Given the description of an element on the screen output the (x, y) to click on. 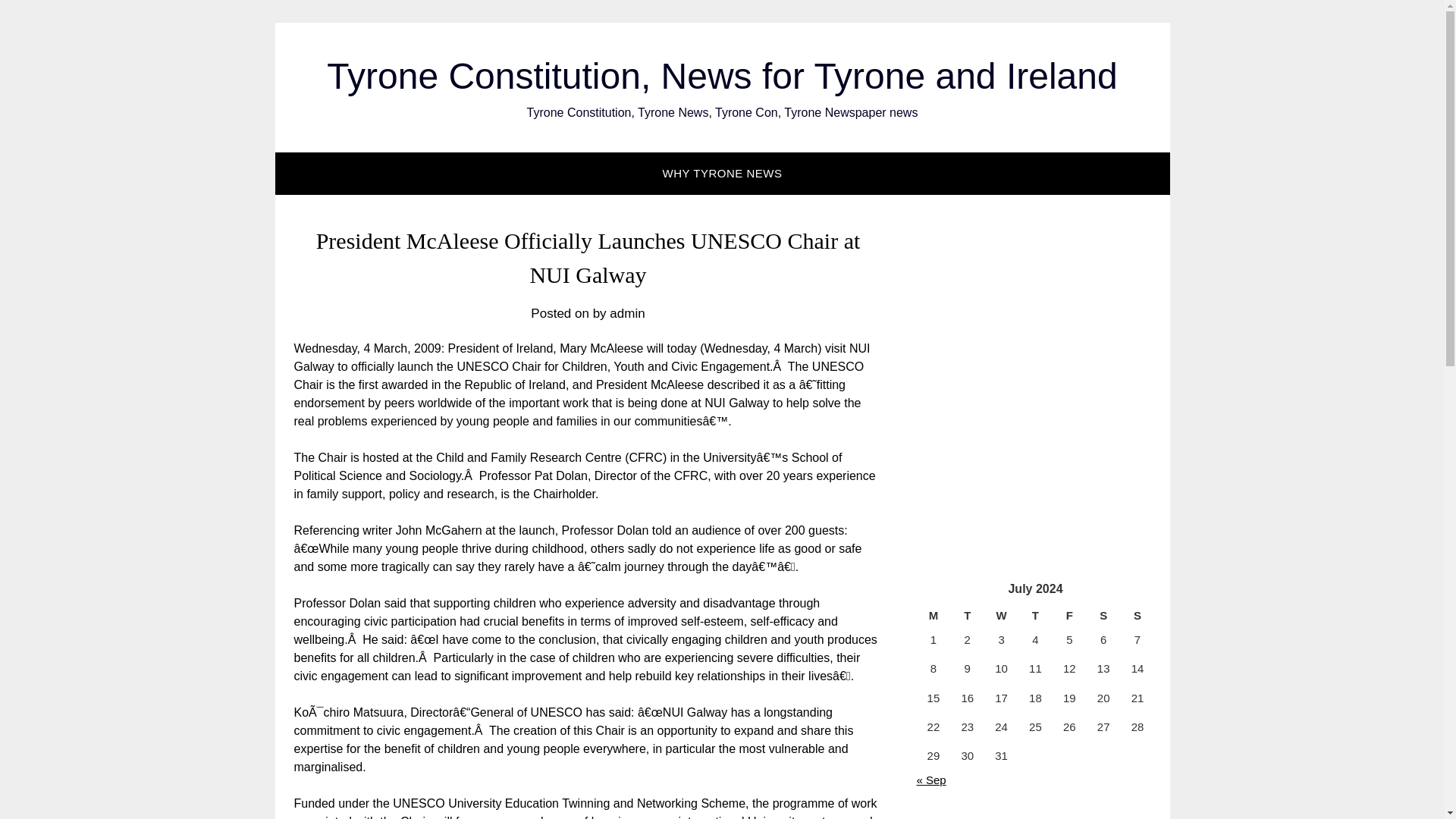
Saturday (1103, 615)
Tyrone Constitution, News for Tyrone and Ireland (721, 76)
Sunday (1137, 615)
Monday (932, 615)
WHY TYRONE NEWS (722, 173)
Tuesday (967, 615)
Thursday (1034, 615)
Friday (1069, 615)
Wednesday (1000, 615)
admin (627, 313)
